Given the description of an element on the screen output the (x, y) to click on. 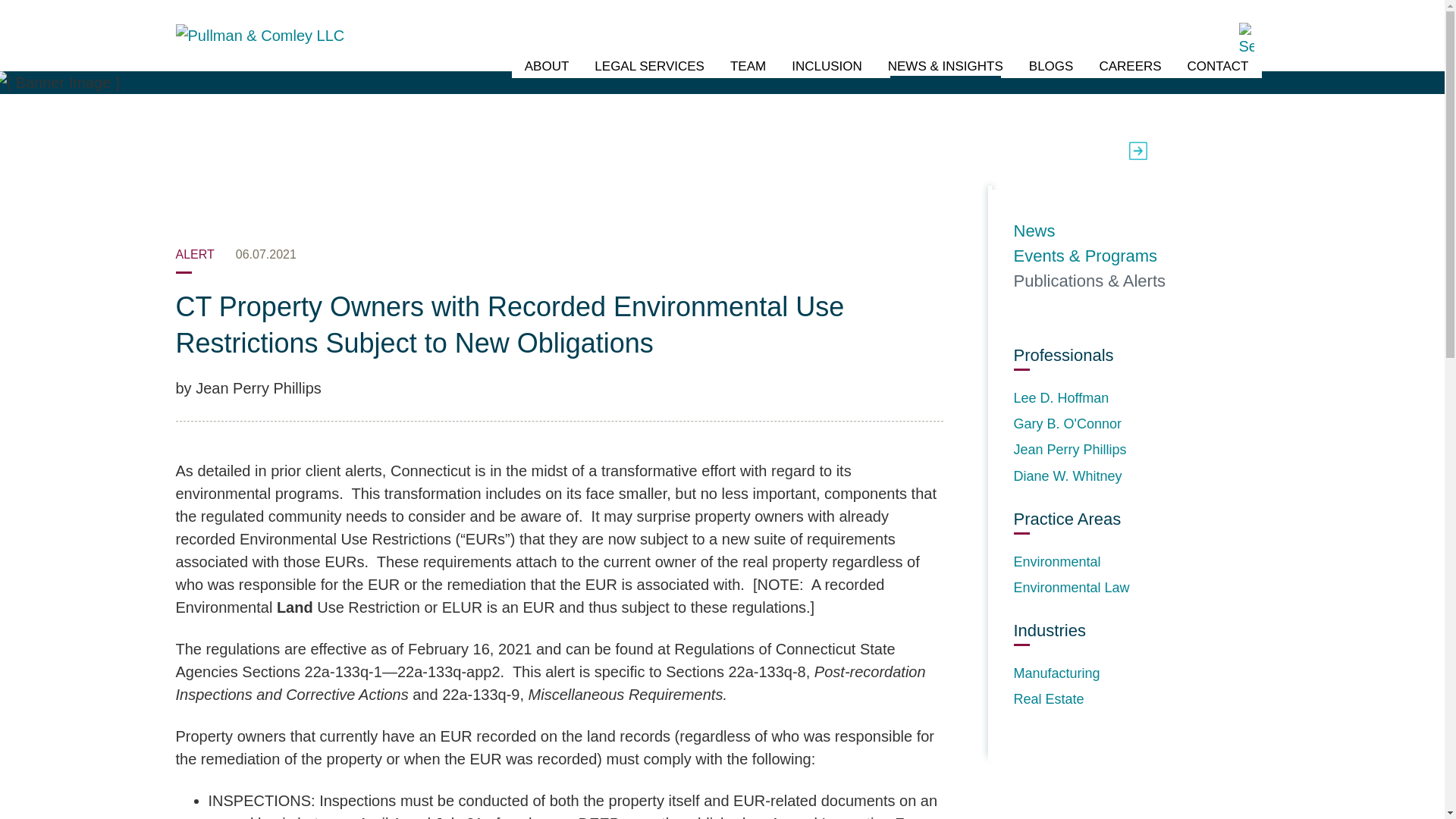
INCLUSION (826, 66)
LEGAL SERVICES (649, 66)
CAREERS (1129, 66)
Menu (673, 19)
Main Menu (673, 19)
BLOGS (1051, 66)
Main Content (666, 19)
ABOUT (546, 66)
Share (1232, 149)
TEAM (747, 66)
